Given the description of an element on the screen output the (x, y) to click on. 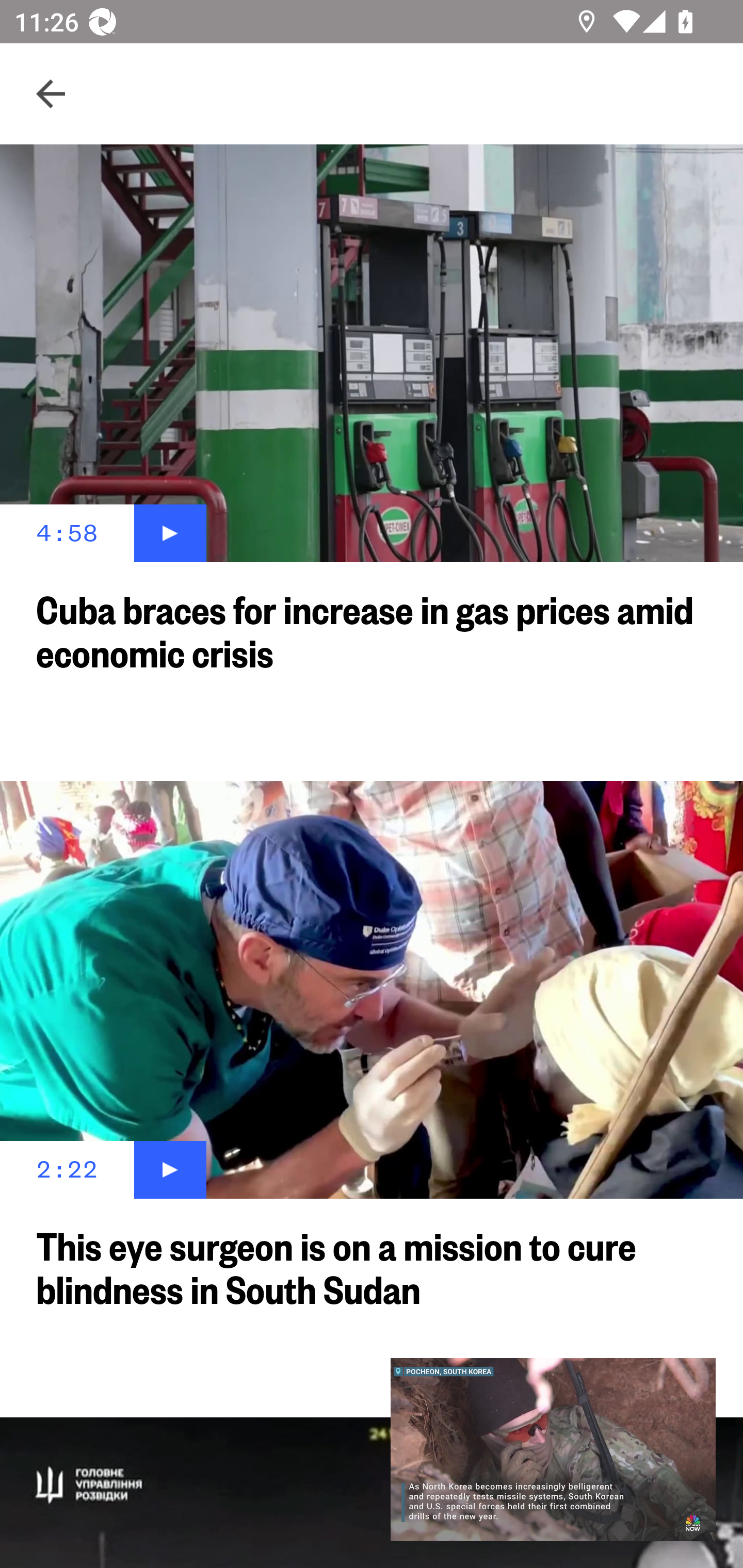
Navigate up (50, 93)
